Given the description of an element on the screen output the (x, y) to click on. 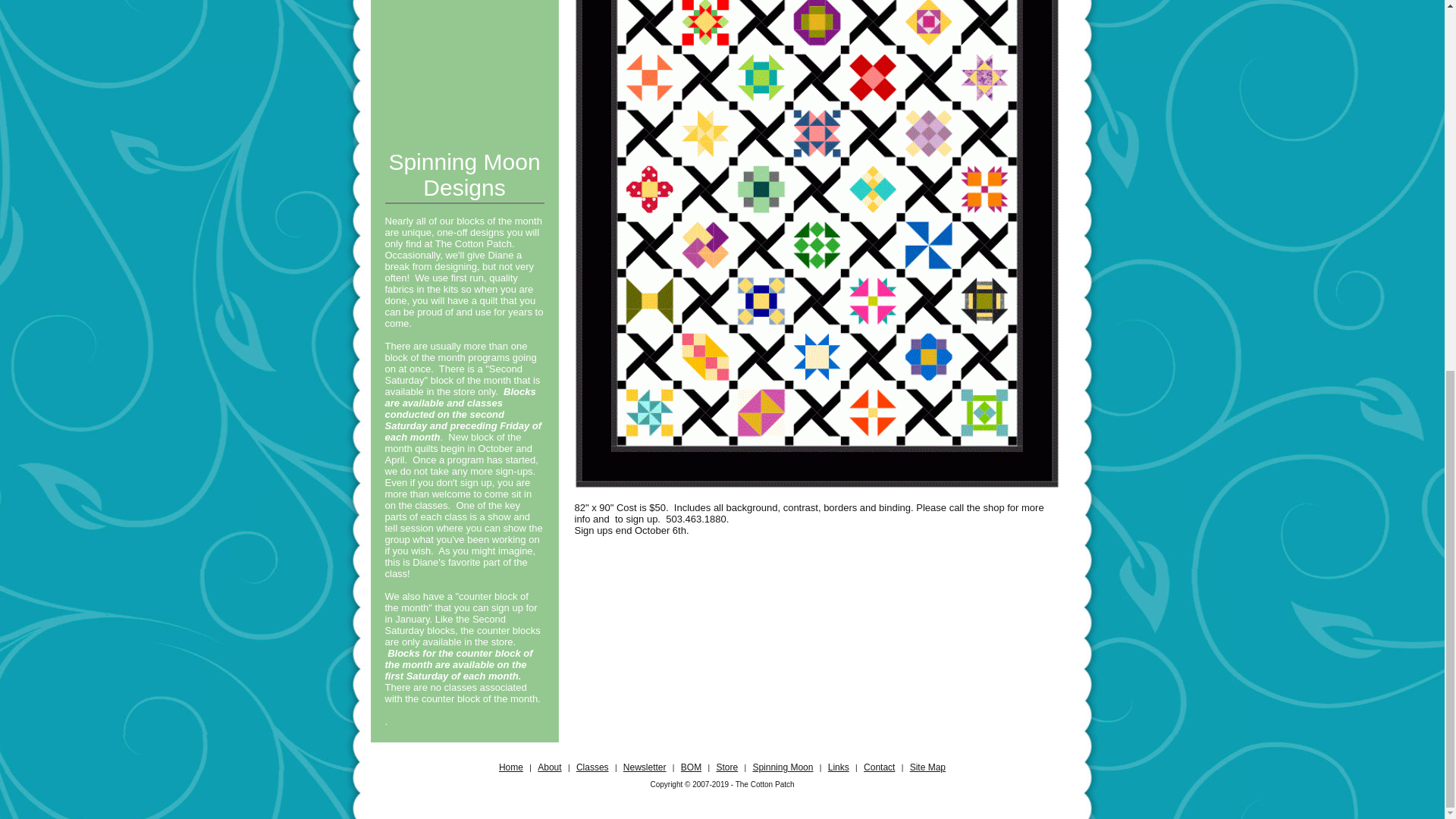
Contact (879, 767)
Home (510, 767)
Links (838, 767)
Store (727, 767)
BOM (691, 767)
Site Map (927, 767)
Newsletter (644, 767)
Spinning Moon (782, 767)
Advertisement (464, 66)
About (548, 767)
Classes (592, 767)
